Given the description of an element on the screen output the (x, y) to click on. 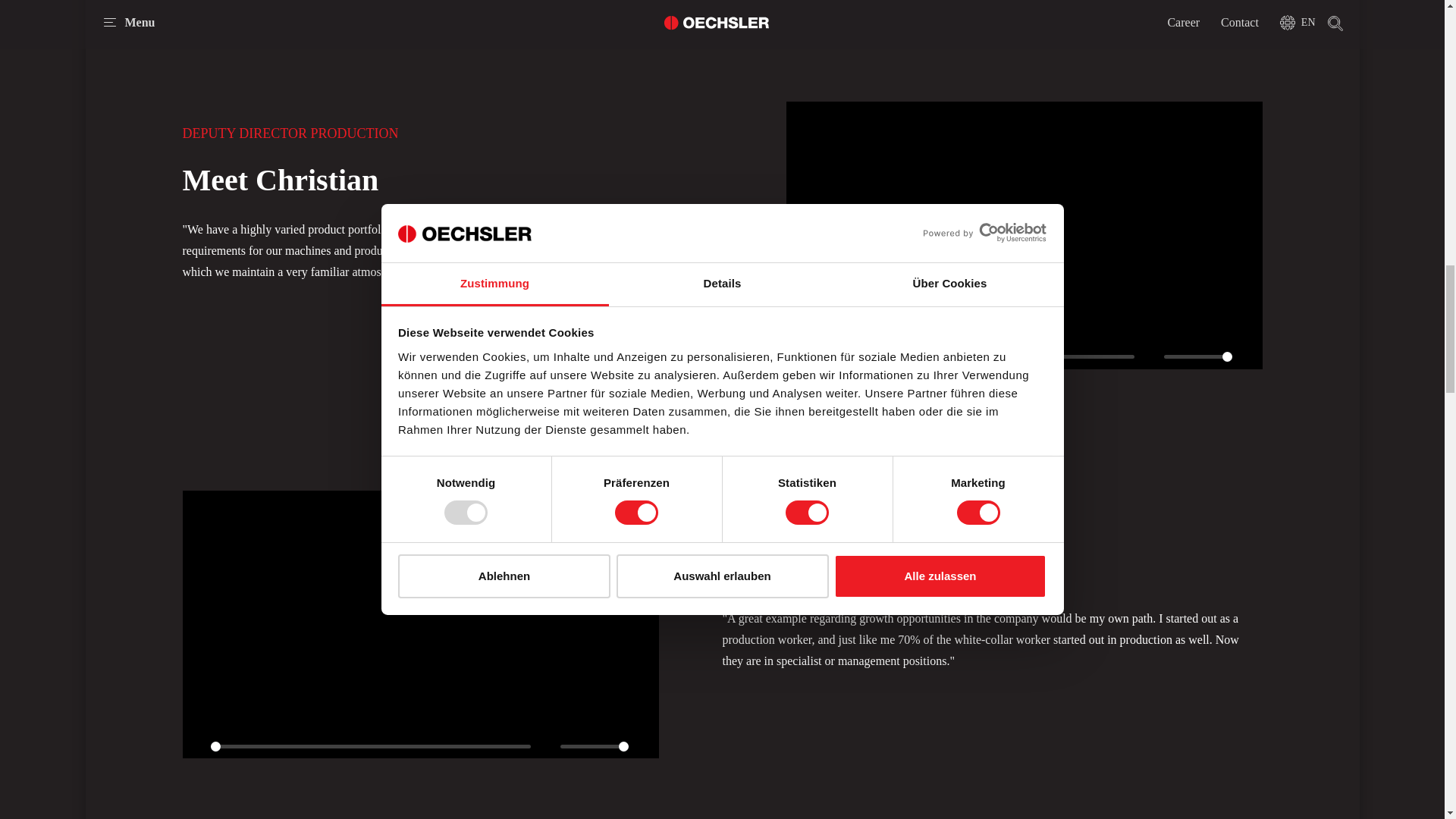
1 (594, 745)
0 (973, 356)
1 (1197, 356)
0 (371, 745)
